Given the description of an element on the screen output the (x, y) to click on. 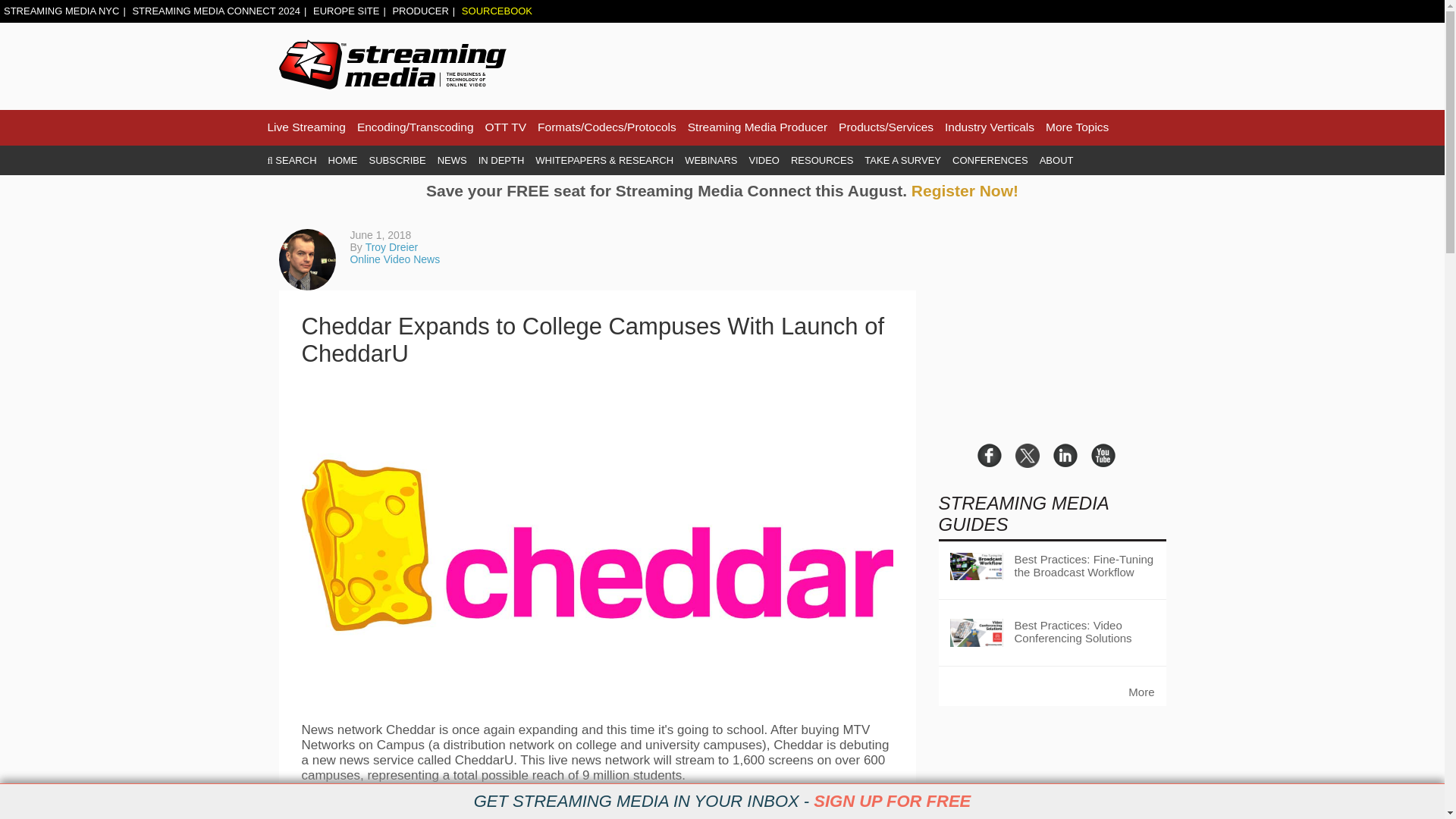
Industry Verticals (988, 127)
Industry Verticals (988, 127)
Live Streaming (305, 127)
GET STREAMING MEDIA IN YOUR INBOX - SIGN UP FOR FREE (722, 801)
SOURCEBOOK (496, 10)
Live Streaming (305, 127)
More Topics (1076, 127)
OTT TV (505, 127)
 SEARCH (290, 160)
SUBSCRIBE (397, 160)
